Given the description of an element on the screen output the (x, y) to click on. 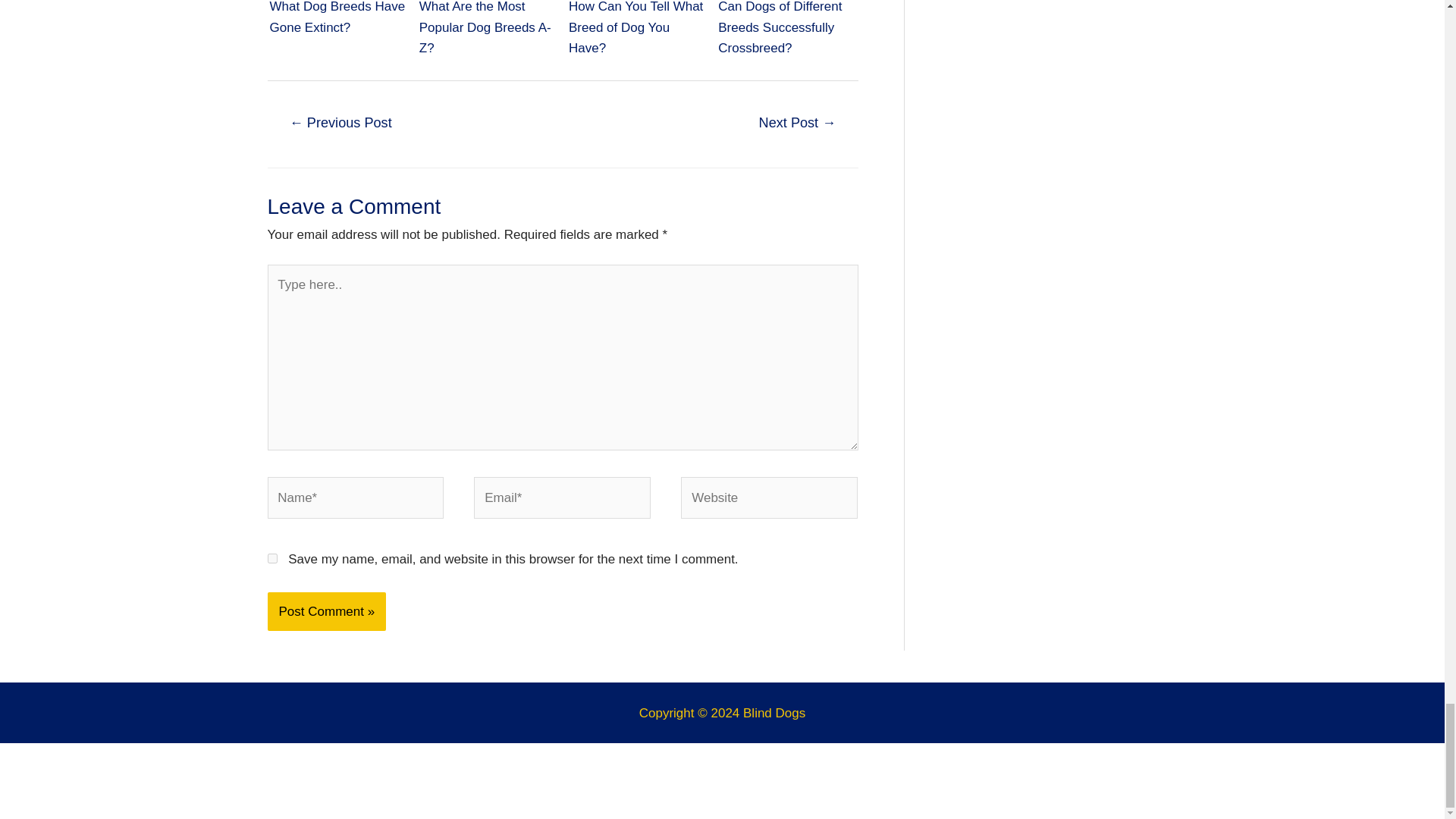
yes (271, 558)
